Given the description of an element on the screen output the (x, y) to click on. 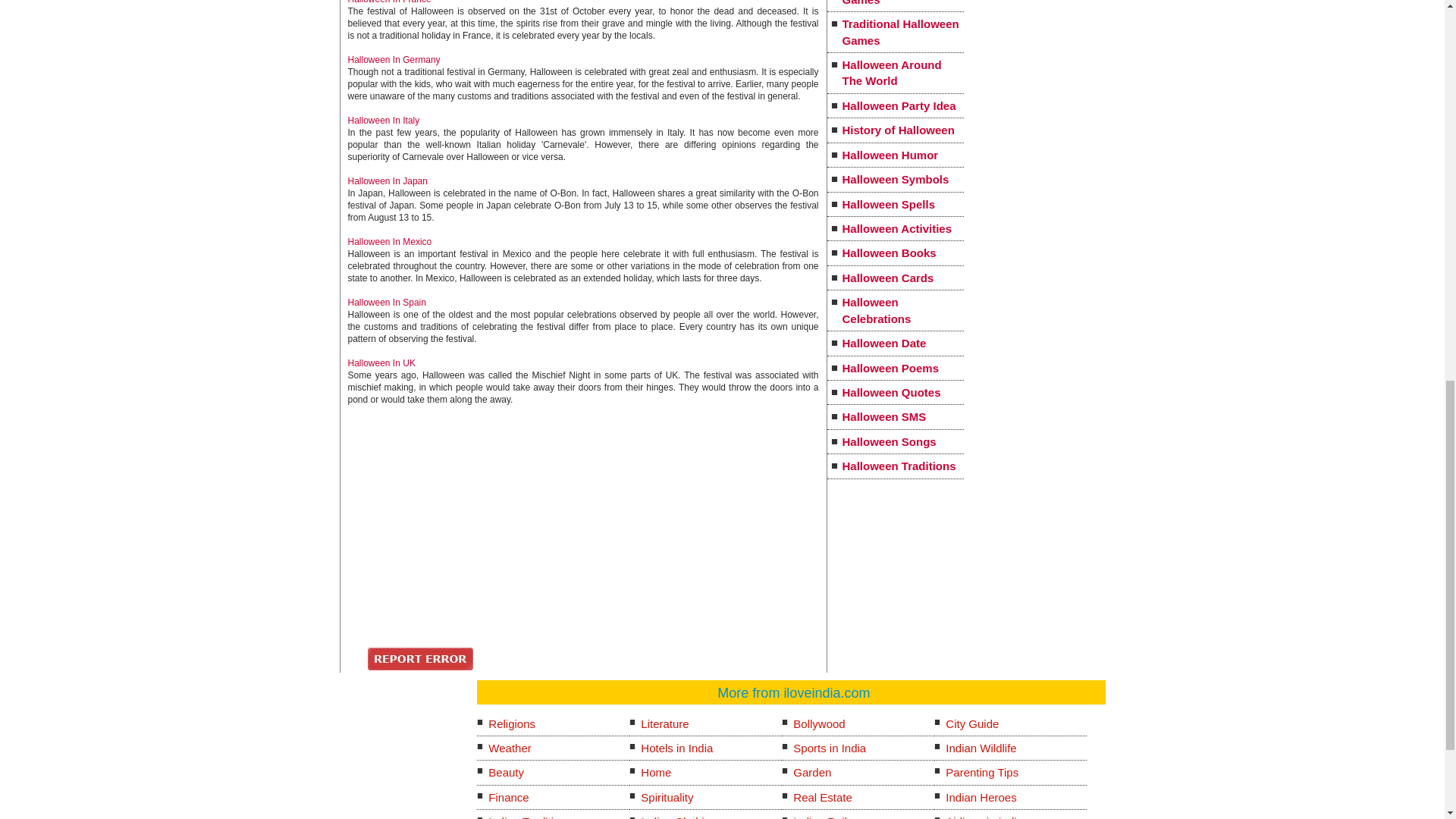
Halloween In Germany (393, 59)
Halloween In France (388, 2)
